Given the description of an element on the screen output the (x, y) to click on. 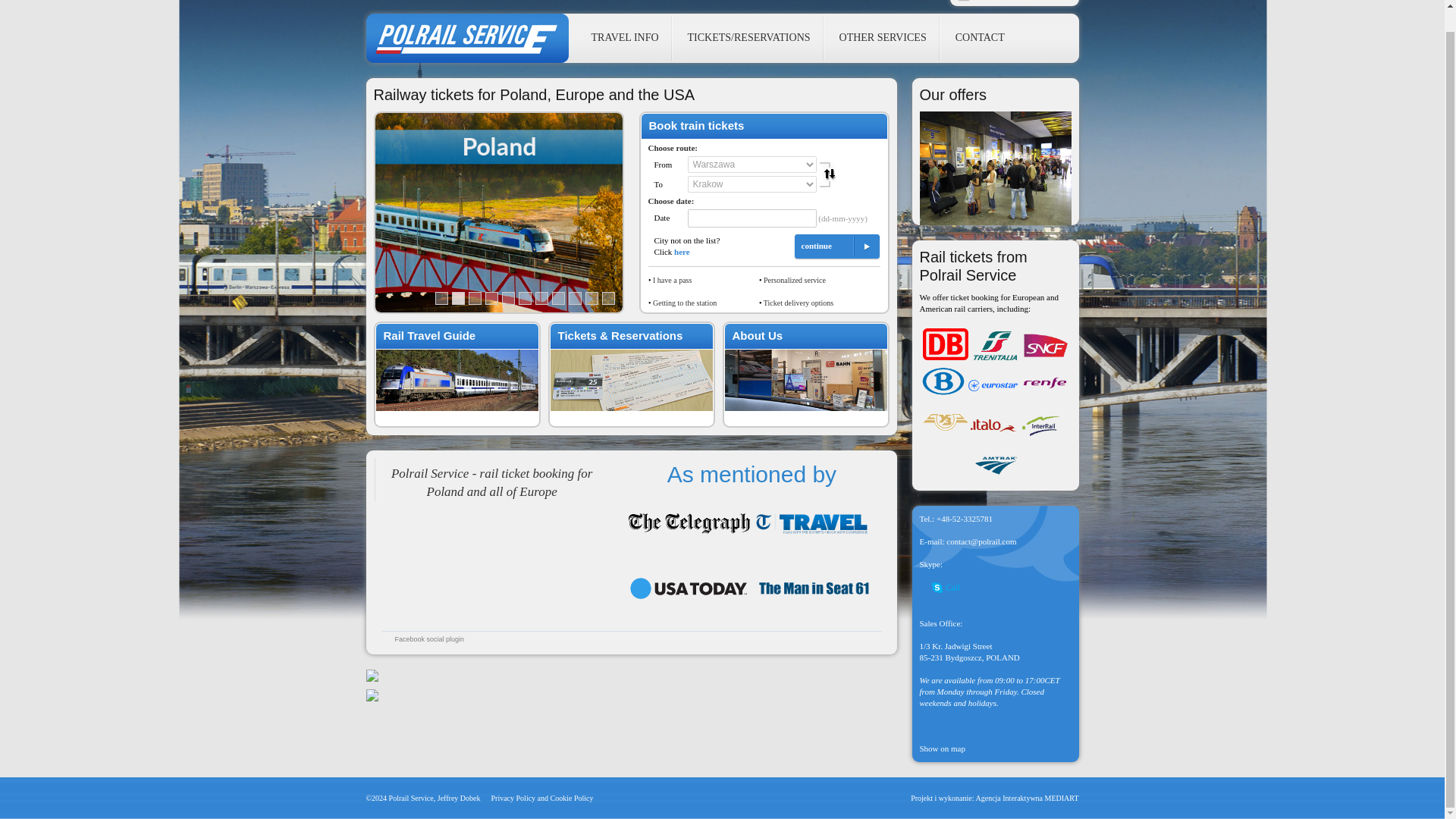
.italo (993, 425)
DB Bahn (944, 344)
Eurostar (992, 385)
TRAVEL INFO (624, 37)
Read about the Polrail Service Advantage (793, 280)
SNCF (1044, 345)
Rail-Air Links in Poland (684, 302)
RENFE (1044, 383)
Booking when you have a pass (671, 280)
Getting your rail tickets (797, 302)
